Given the description of an element on the screen output the (x, y) to click on. 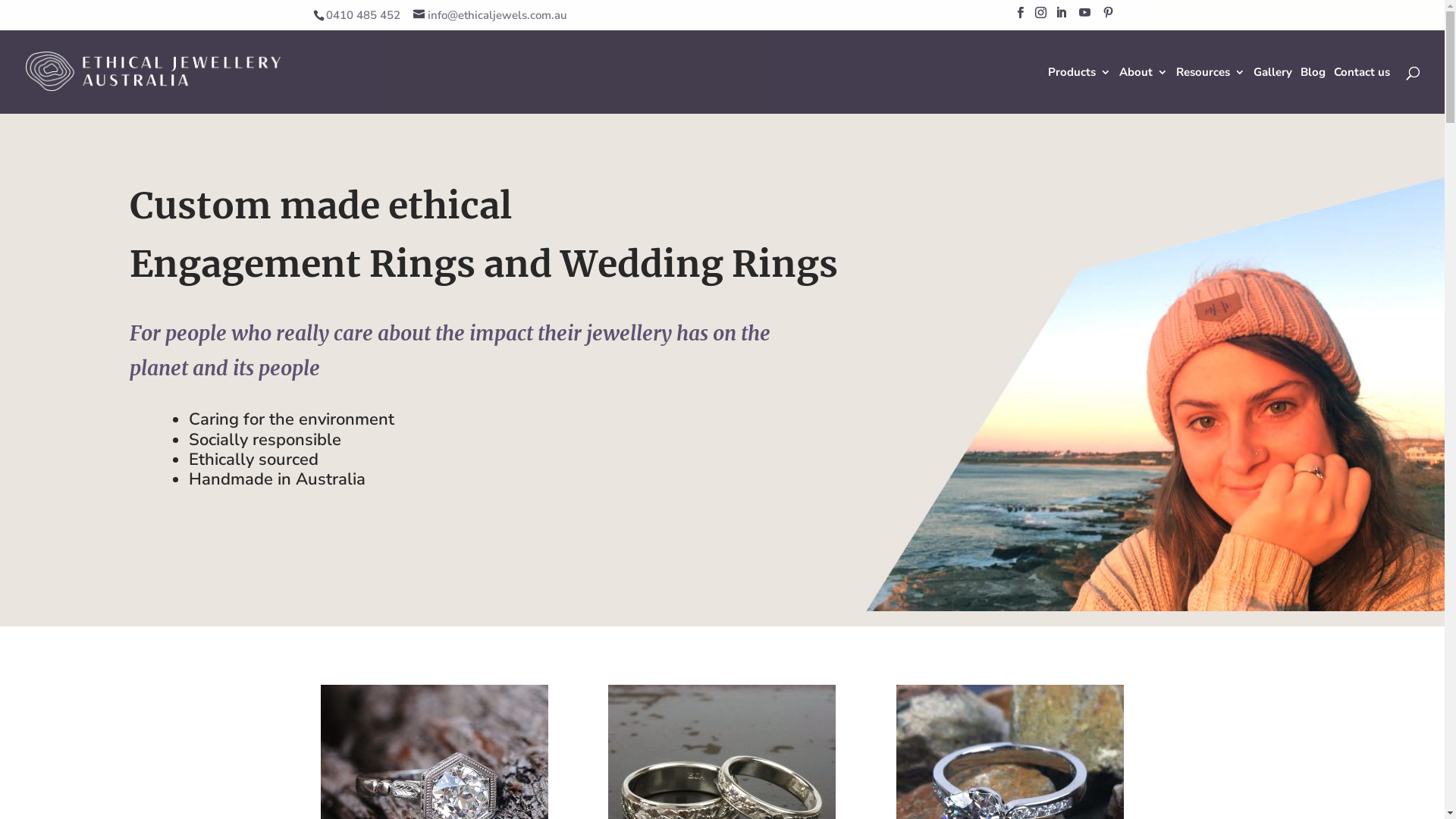
0410 485 452 Element type: text (360, 14)
Gallery Element type: text (1272, 89)
Resources Element type: text (1210, 89)
Brigid Short copy Element type: hover (1155, 393)
Blog Element type: text (1312, 89)
Products Element type: text (1079, 89)
Contact us Element type: text (1361, 89)
info@ethicaljewels.com.au Element type: text (489, 14)
About Element type: text (1143, 89)
